Given the description of an element on the screen output the (x, y) to click on. 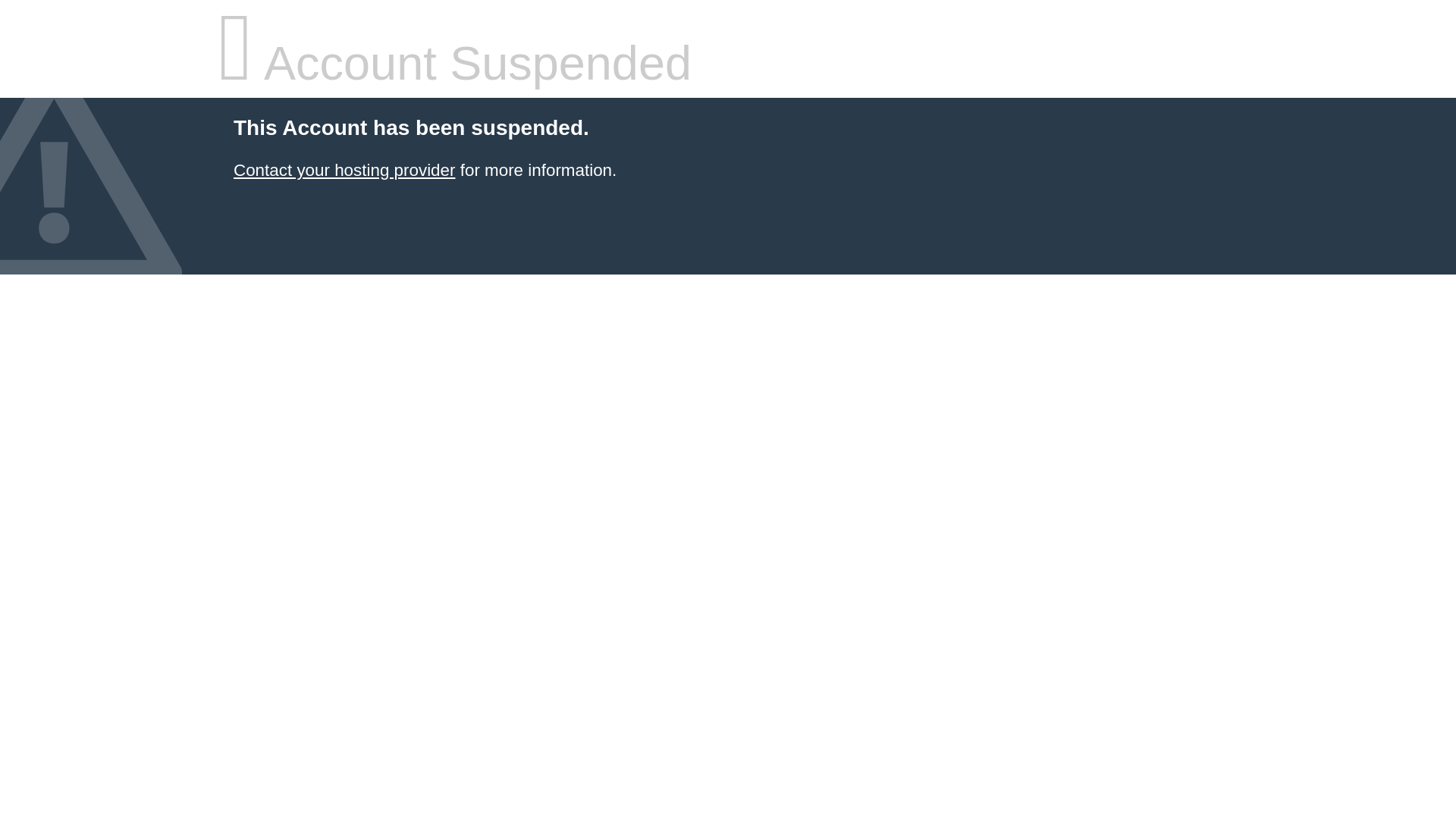
Contact your hosting provider (343, 169)
